Given the description of an element on the screen output the (x, y) to click on. 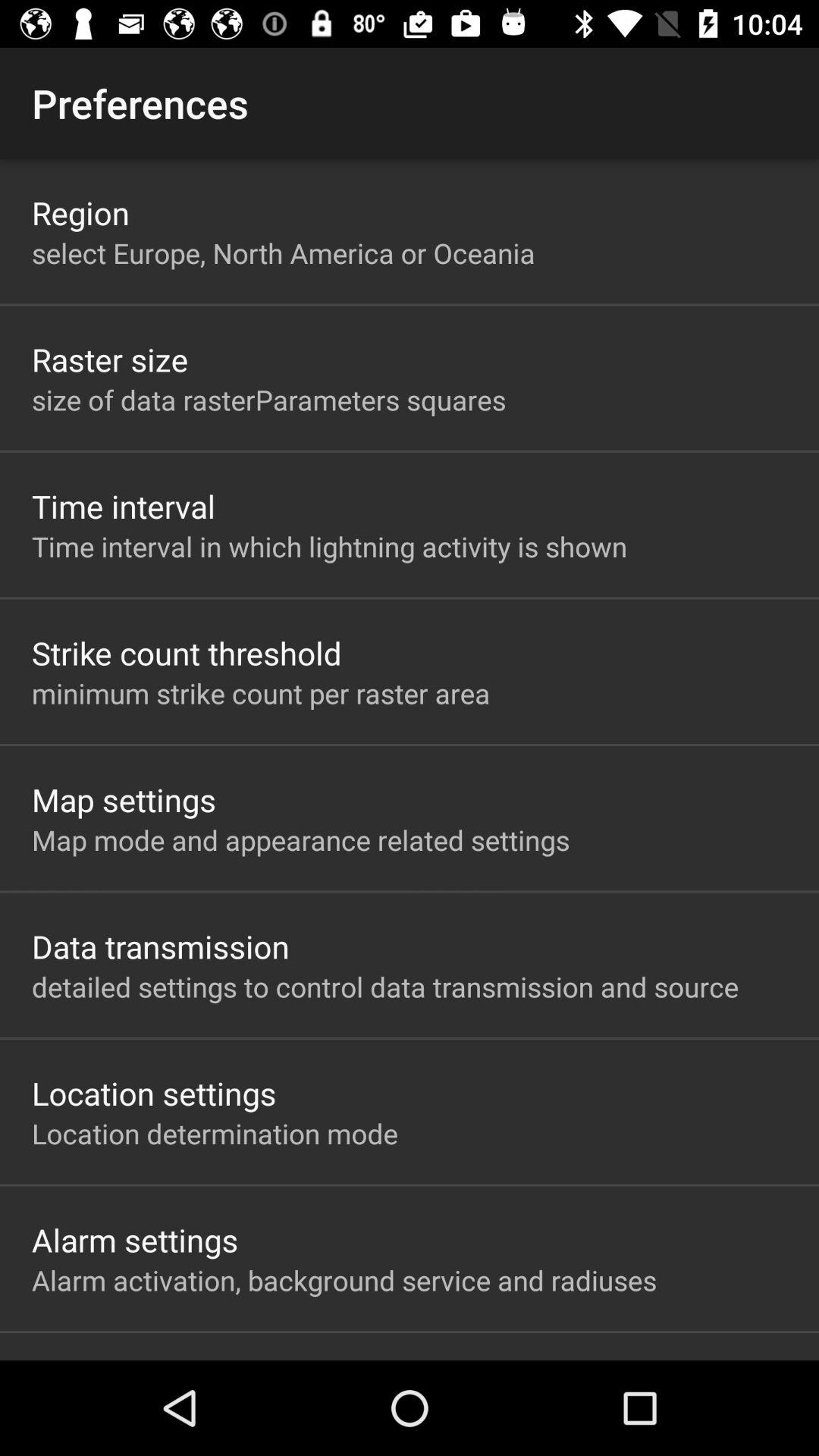
click app above the location settings item (384, 986)
